Given the description of an element on the screen output the (x, y) to click on. 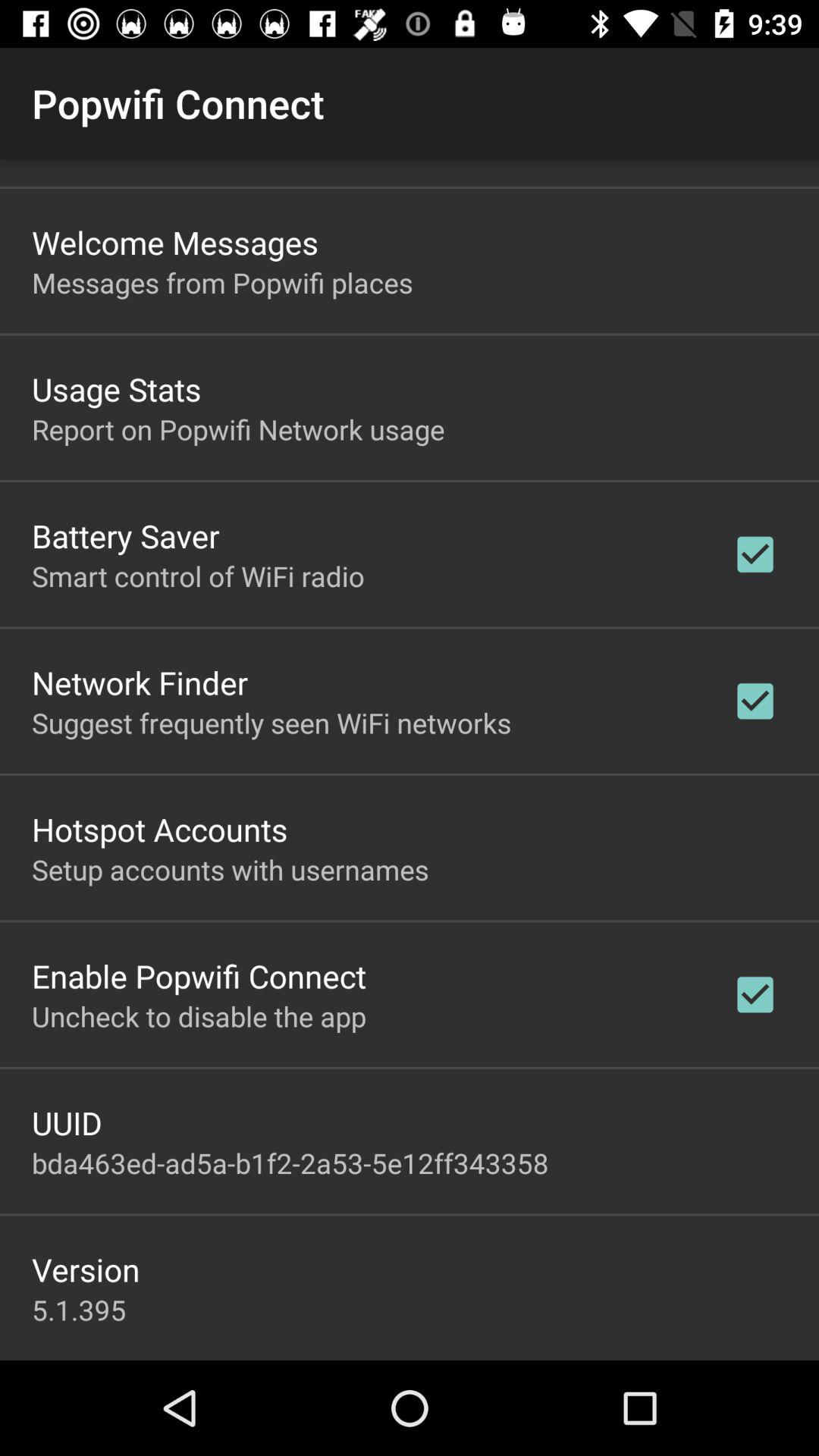
swipe until messages from popwifi app (221, 282)
